Given the description of an element on the screen output the (x, y) to click on. 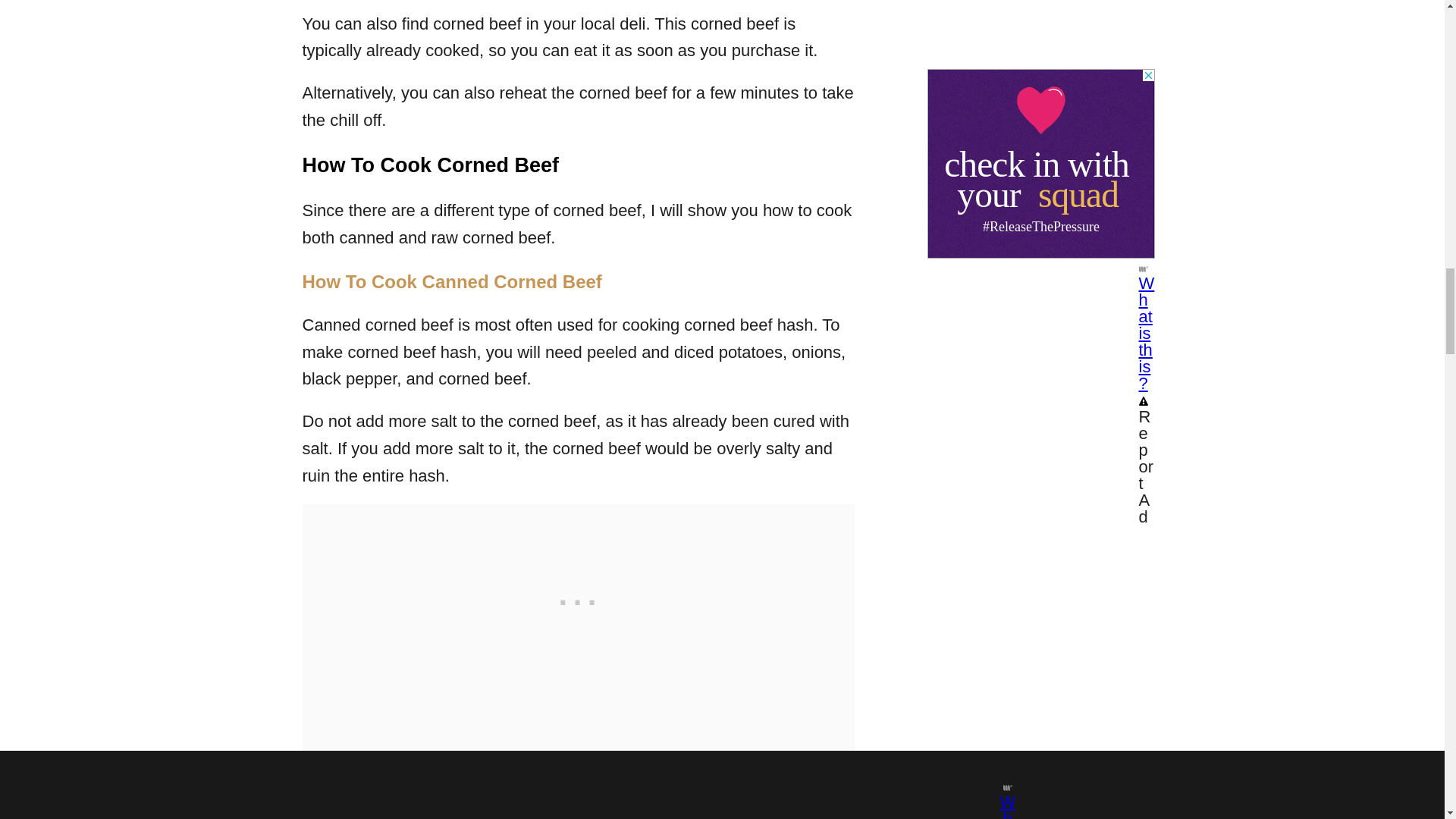
3rd party ad content (577, 598)
